Given the description of an element on the screen output the (x, y) to click on. 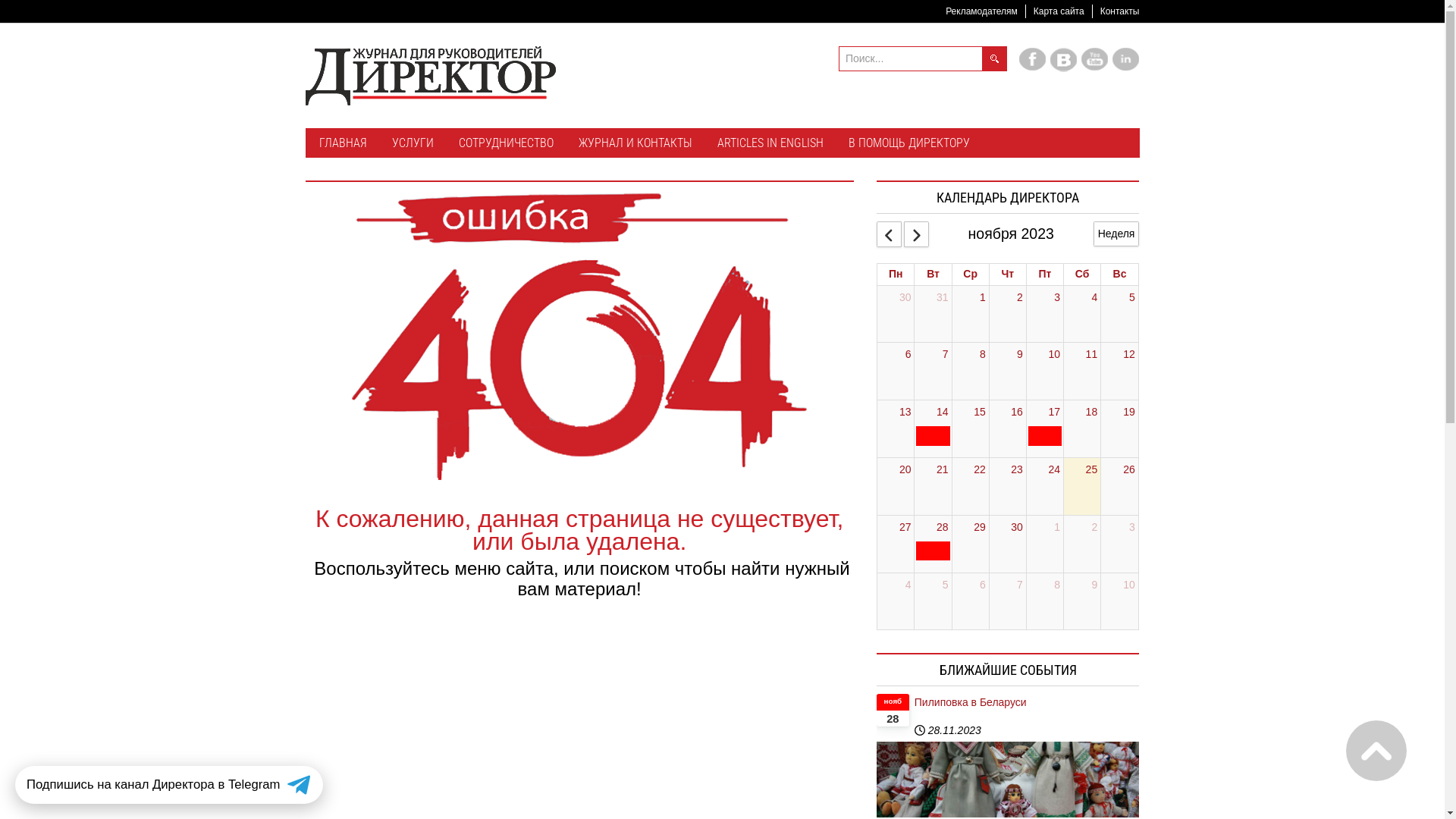
11 Element type: text (1091, 354)
1 Element type: text (1057, 527)
  Element type: text (1376, 750)
25 Element type: text (1091, 470)
29 Element type: text (979, 527)
27 Element type: text (905, 527)
6 Element type: text (982, 585)
14 Element type: text (942, 412)
7 Element type: text (1019, 585)
18 Element type: text (1091, 412)
6 Element type: text (908, 354)
4 Element type: text (1094, 297)
12 Element type: text (1129, 354)
  Element type: text (1044, 435)
19 Element type: text (1129, 412)
ARTICLES IN ENGLISH Element type: text (769, 143)
2 Element type: text (1094, 527)
30 Element type: text (1016, 527)
9 Element type: text (1019, 354)
2 Element type: text (1019, 297)
26 Element type: text (1129, 470)
30 Element type: text (905, 297)
17 Element type: text (1053, 412)
  Element type: text (932, 435)
10 Element type: text (1053, 354)
20 Element type: text (905, 470)
3 Element type: text (1132, 527)
1 Element type: text (982, 297)
  Element type: text (932, 551)
3 Element type: text (1057, 297)
13 Element type: text (905, 412)
7 Element type: text (945, 354)
16 Element type: text (1016, 412)
21 Element type: text (942, 470)
23 Element type: text (1016, 470)
4 Element type: text (908, 585)
22 Element type: text (979, 470)
8 Element type: text (1057, 585)
31 Element type: text (942, 297)
10 Element type: text (1129, 585)
9 Element type: text (1094, 585)
5 Element type: text (1132, 297)
8 Element type: text (982, 354)
15 Element type: text (979, 412)
5 Element type: text (945, 585)
24 Element type: text (1053, 470)
28 Element type: text (942, 527)
